Given the description of an element on the screen output the (x, y) to click on. 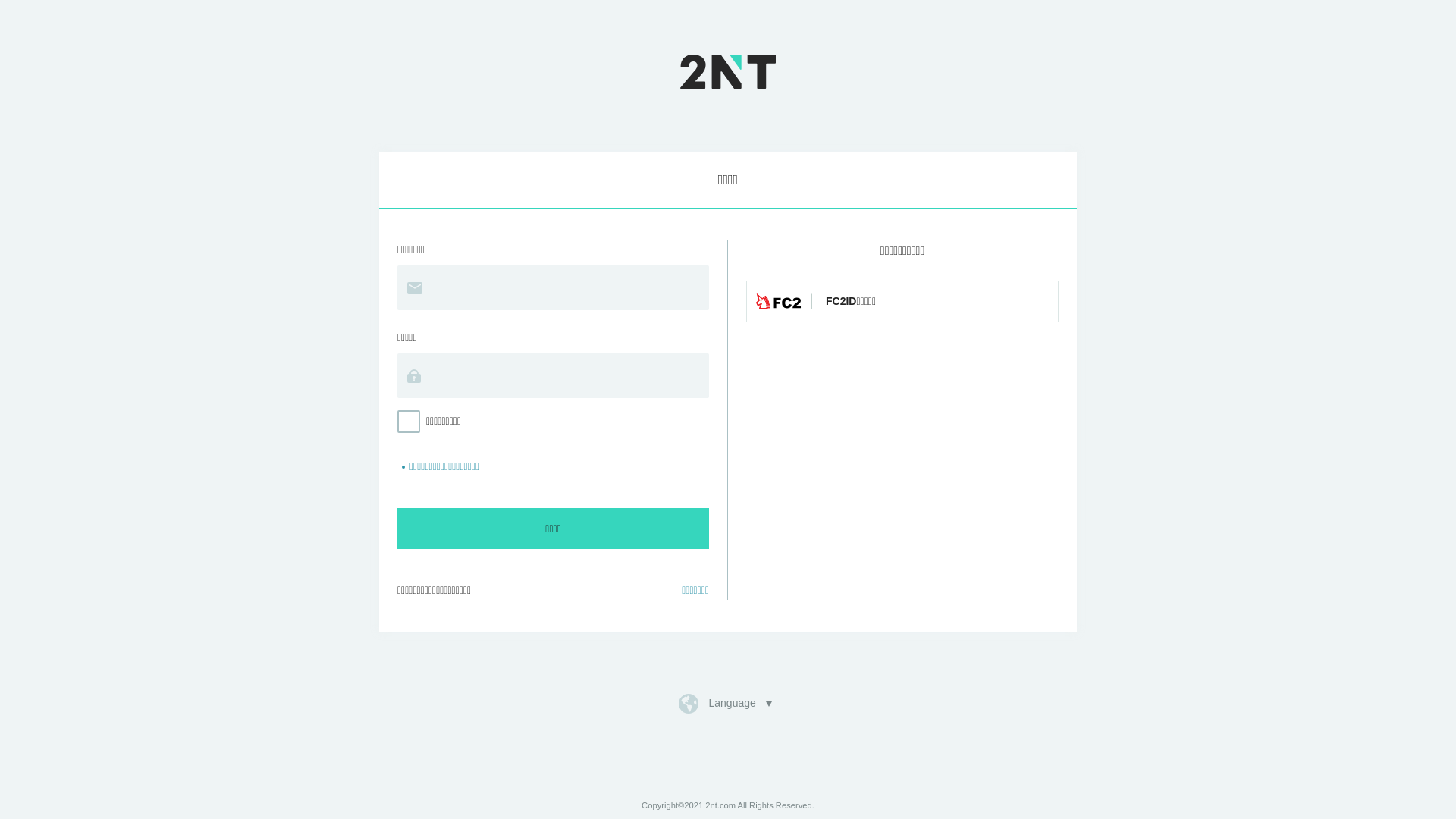
1 Element type: text (4, 4)
